Given the description of an element on the screen output the (x, y) to click on. 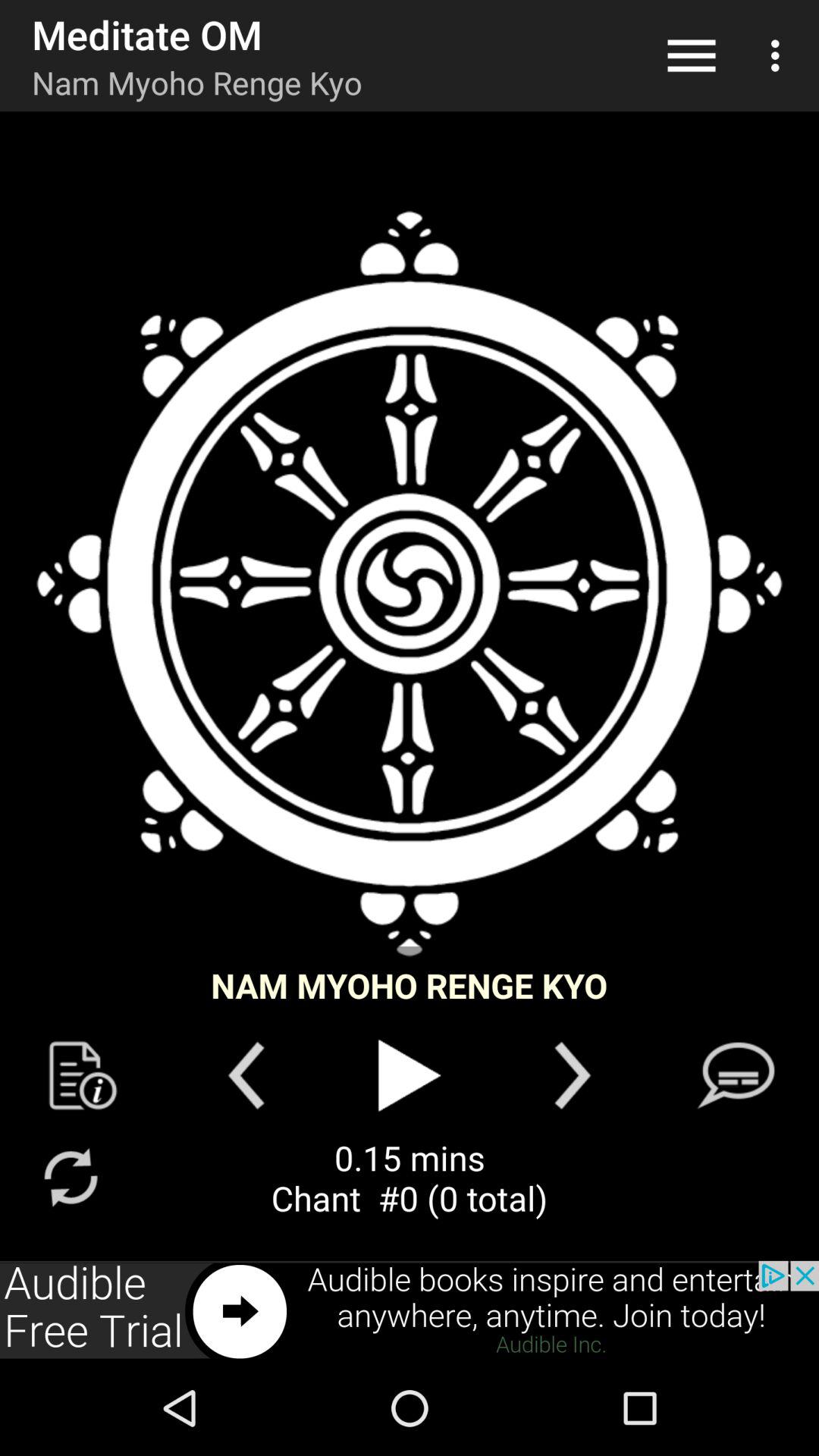
launch mantra (409, 583)
